Given the description of an element on the screen output the (x, y) to click on. 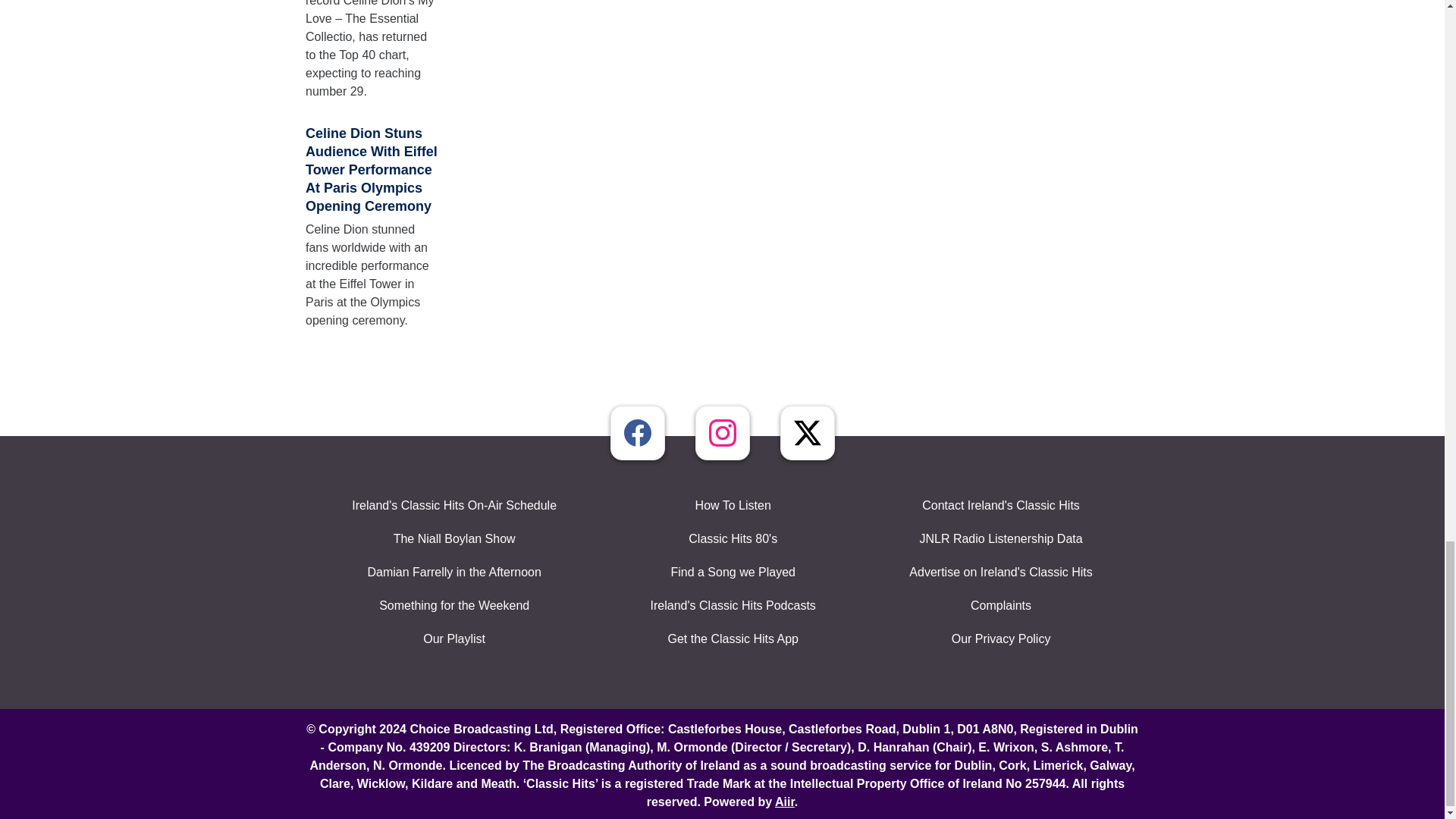
Aiir radio website CMS (784, 801)
